Given the description of an element on the screen output the (x, y) to click on. 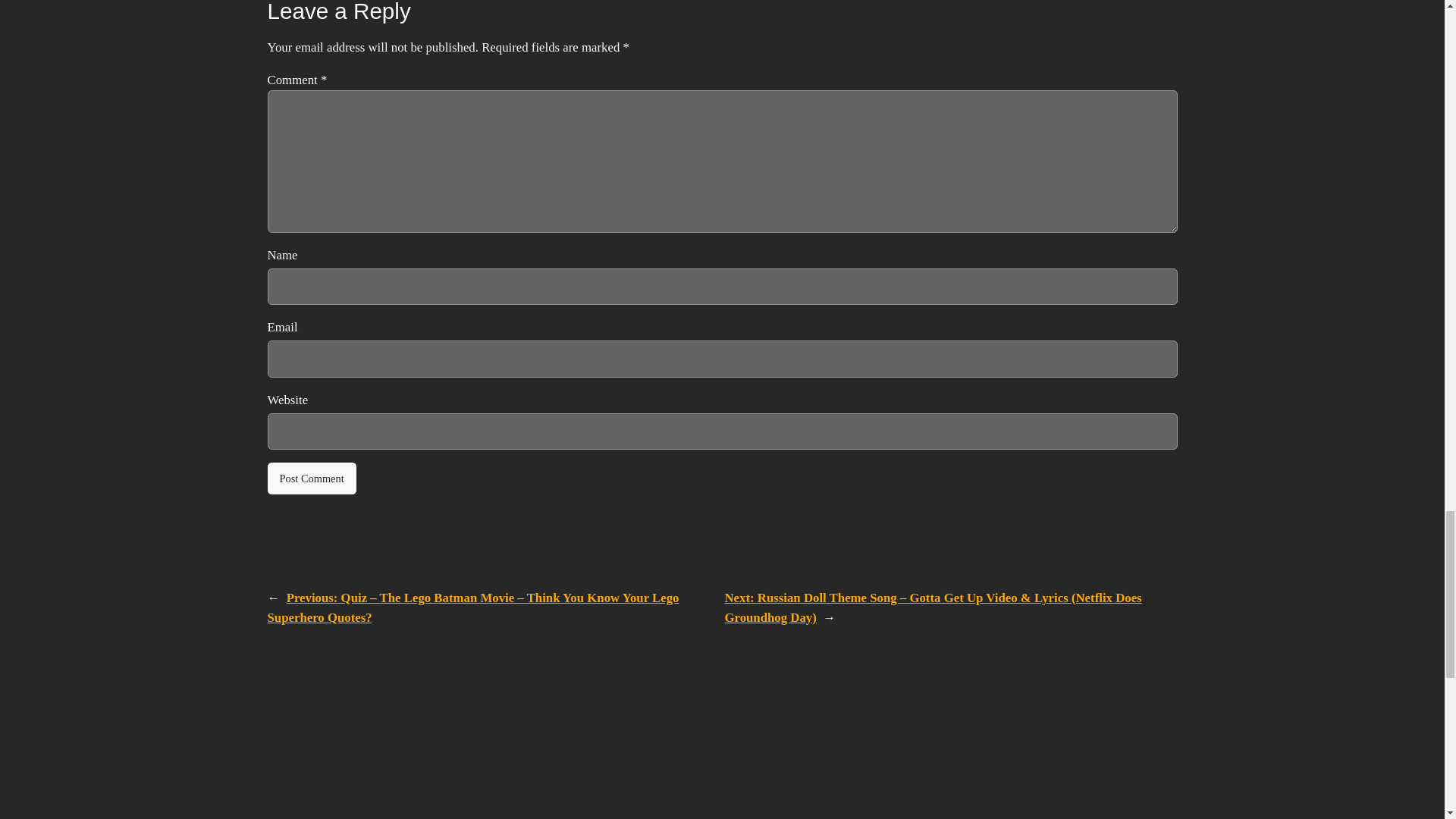
Post Comment (310, 478)
Post Comment (310, 478)
